Given the description of an element on the screen output the (x, y) to click on. 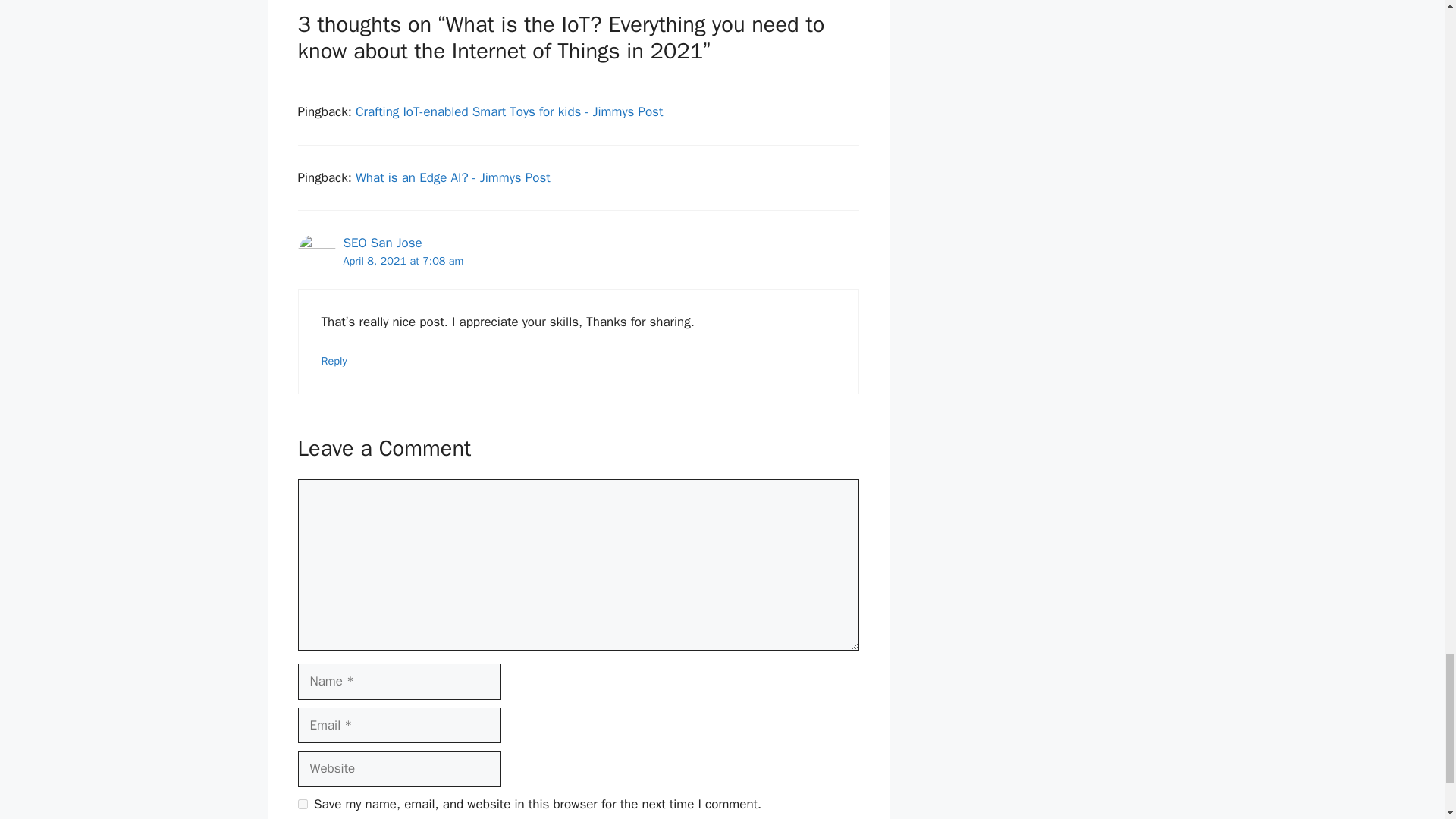
yes (302, 804)
SEO San Jose (382, 242)
What is an Edge AI? - Jimmys Post (452, 177)
April 8, 2021 at 7:08 am (402, 260)
Reply (334, 360)
Crafting IoT-enabled Smart Toys for kids - Jimmys Post (508, 111)
